Given the description of an element on the screen output the (x, y) to click on. 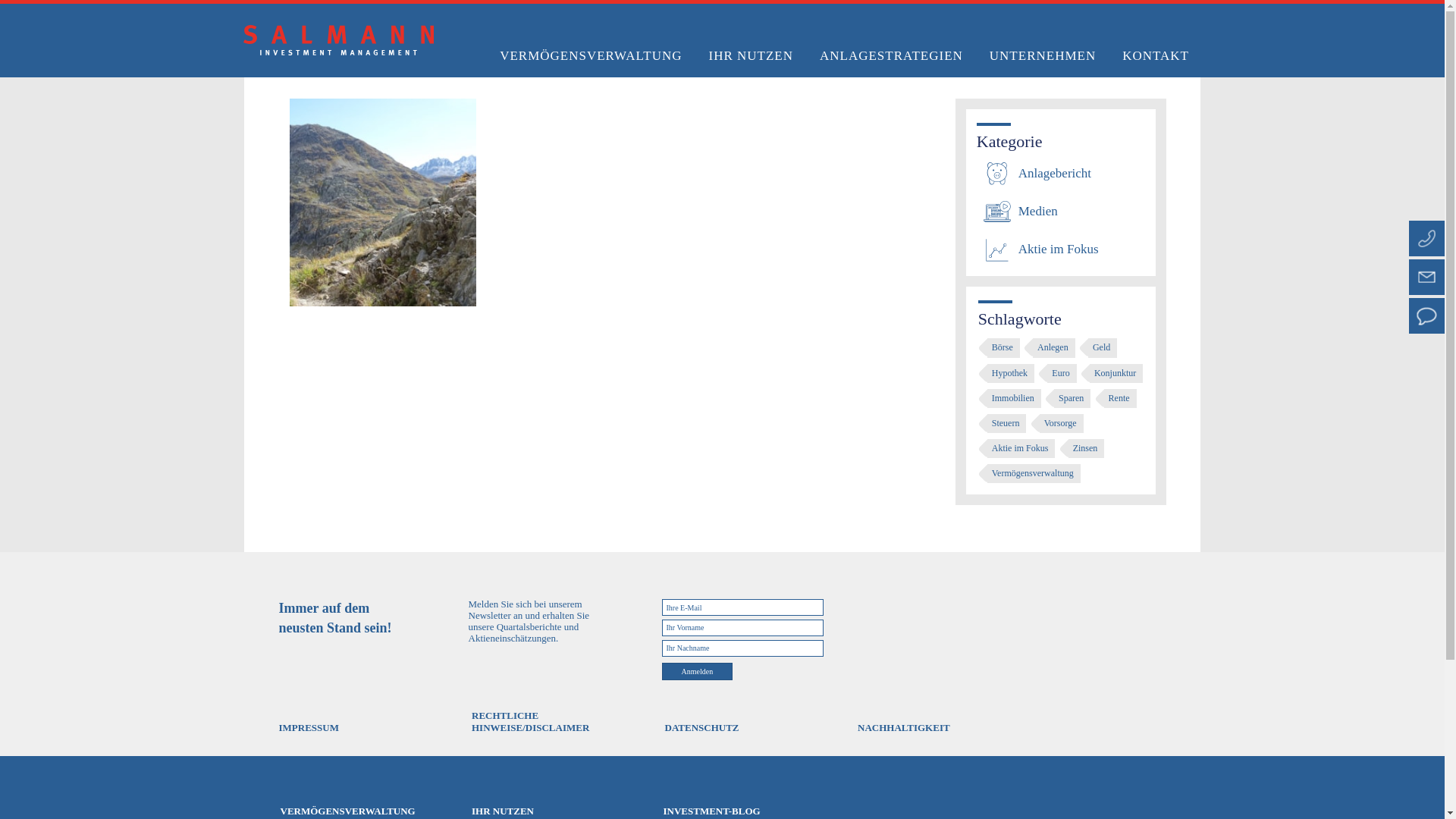
INVESTMENT-BLOG (1033, 51)
KONTAKT (1154, 55)
ANLAGESTRATEGIEN (891, 55)
de (1135, 51)
Salmann Investment (338, 40)
UNTERNEHMEN (1042, 55)
en (1157, 51)
IHR NUTZEN (751, 55)
